Given the description of an element on the screen output the (x, y) to click on. 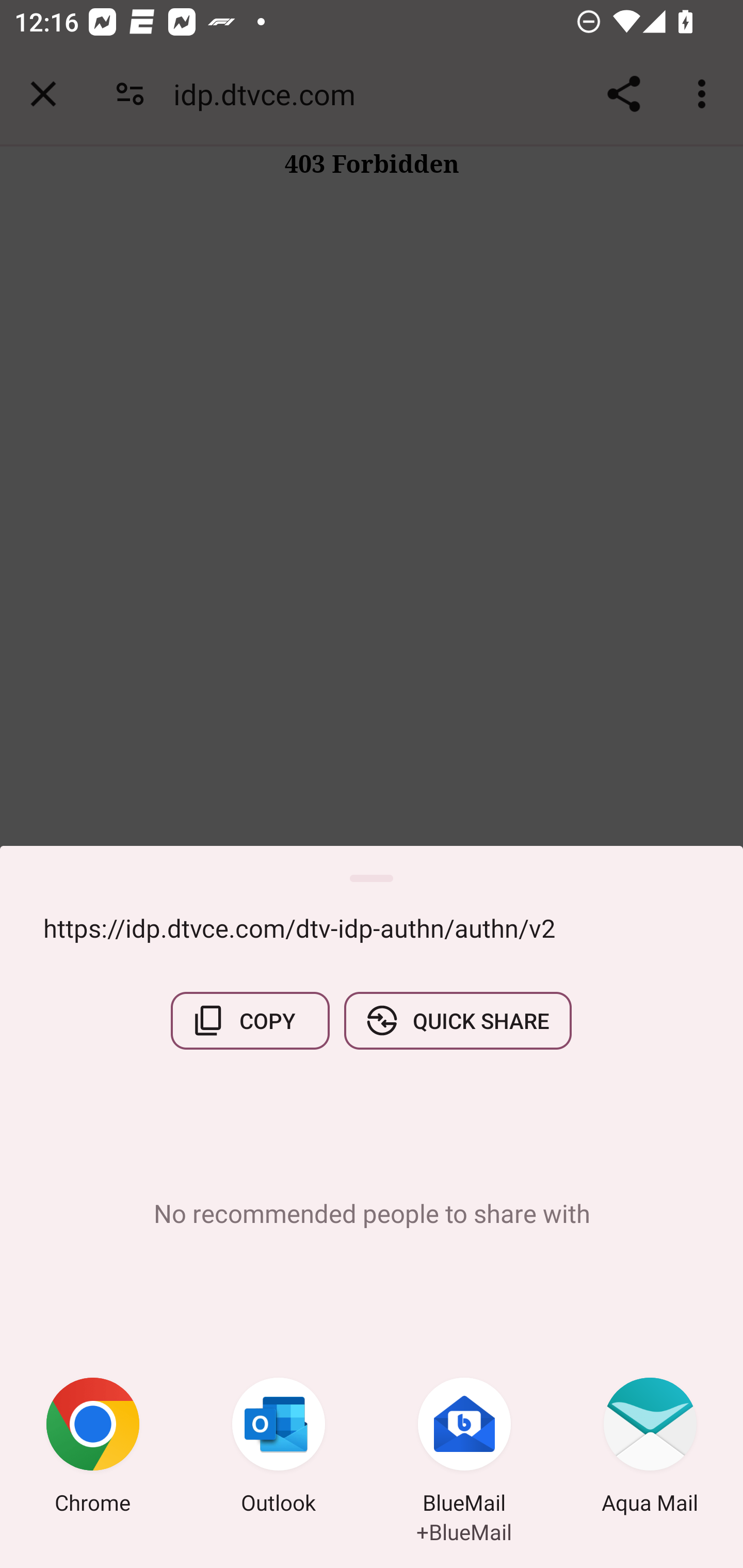
COPY (249, 1020)
QUICK SHARE (457, 1020)
Chrome (92, 1448)
Outlook (278, 1448)
BlueMail +BlueMail (464, 1448)
Aqua Mail (650, 1448)
